Given the description of an element on the screen output the (x, y) to click on. 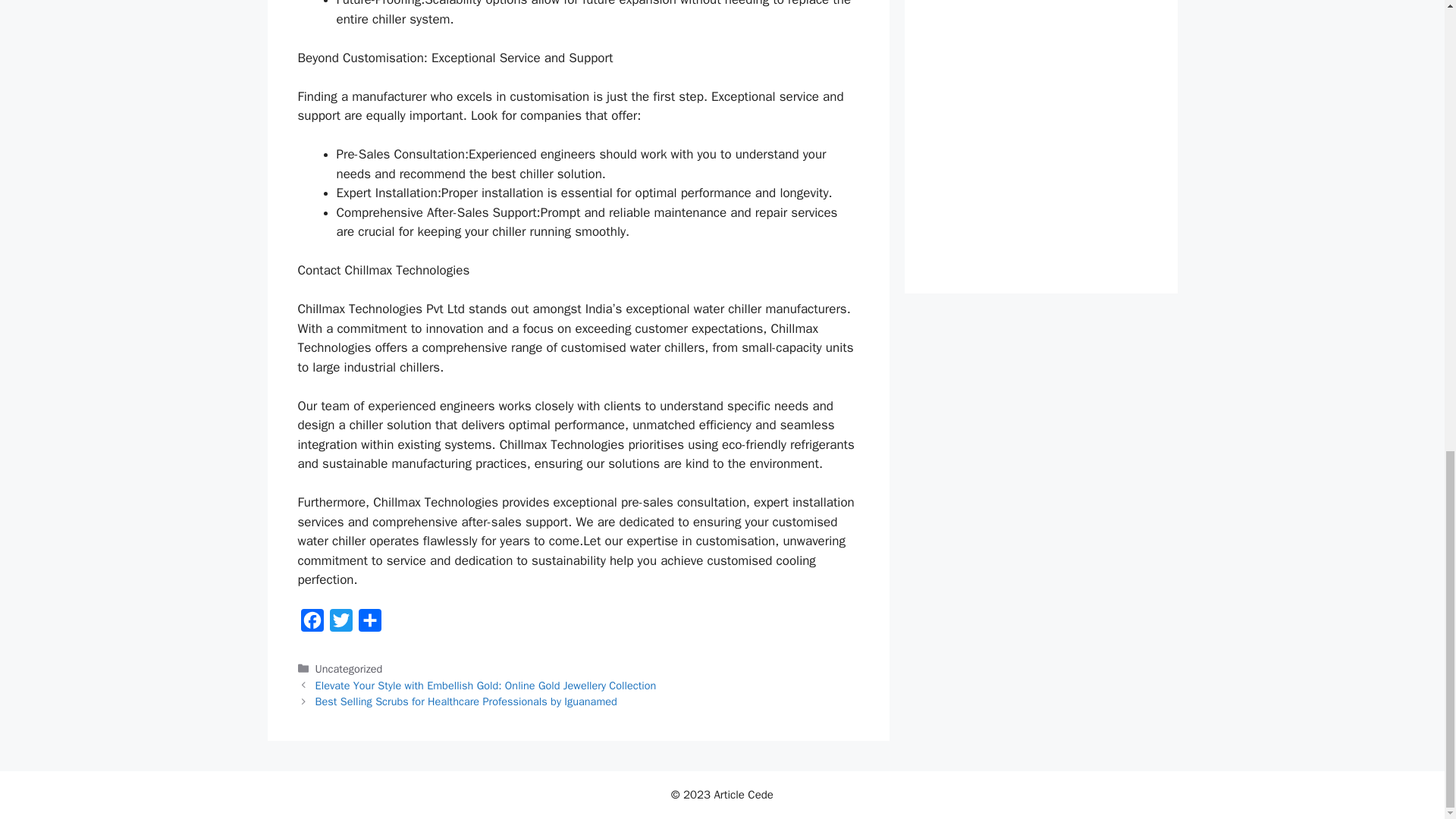
Facebook (311, 624)
Twitter (340, 624)
Twitter (340, 624)
Facebook (311, 624)
Scroll back to top (1406, 530)
